Given the description of an element on the screen output the (x, y) to click on. 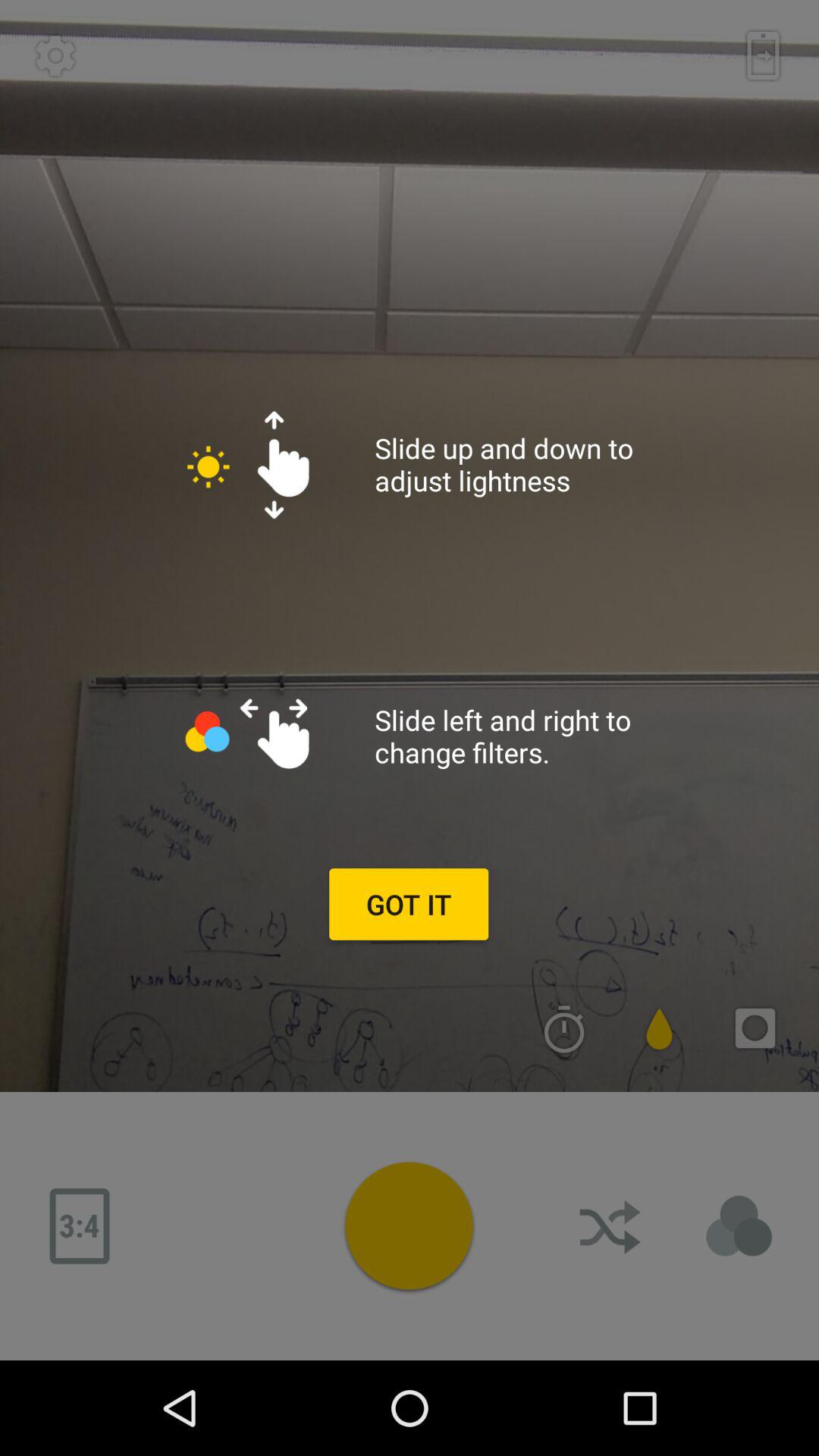
add details (739, 1226)
